Given the description of an element on the screen output the (x, y) to click on. 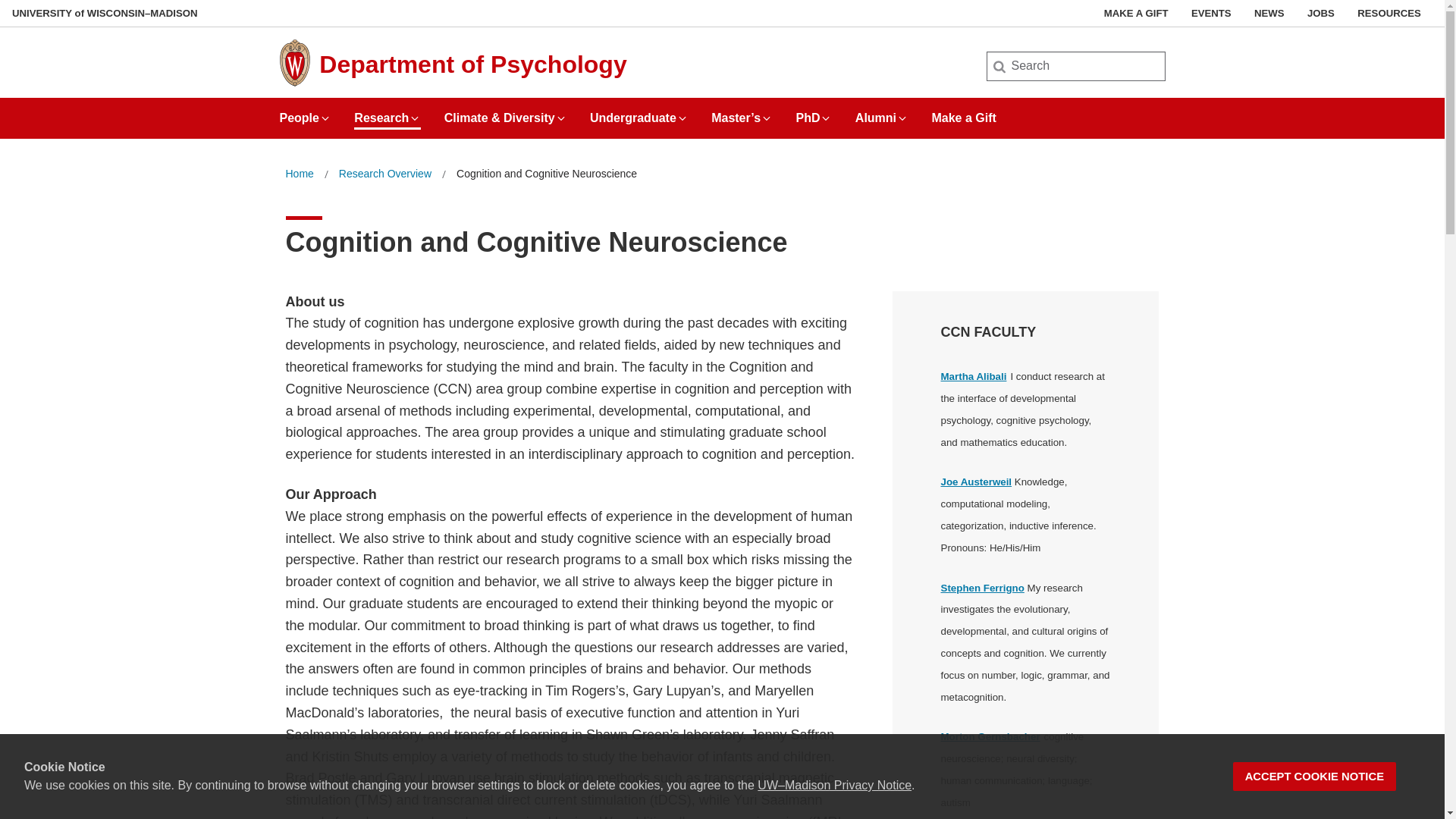
Search (37, 16)
Home (299, 173)
Department of Psychology (472, 63)
Cognition and Cognitive Neuroscience (547, 173)
Expand (560, 118)
ACCEPT COOKIE NOTICE (1314, 776)
Expand (902, 118)
Expand (414, 118)
Expand (766, 118)
Research Overview (384, 173)
